Given the description of an element on the screen output the (x, y) to click on. 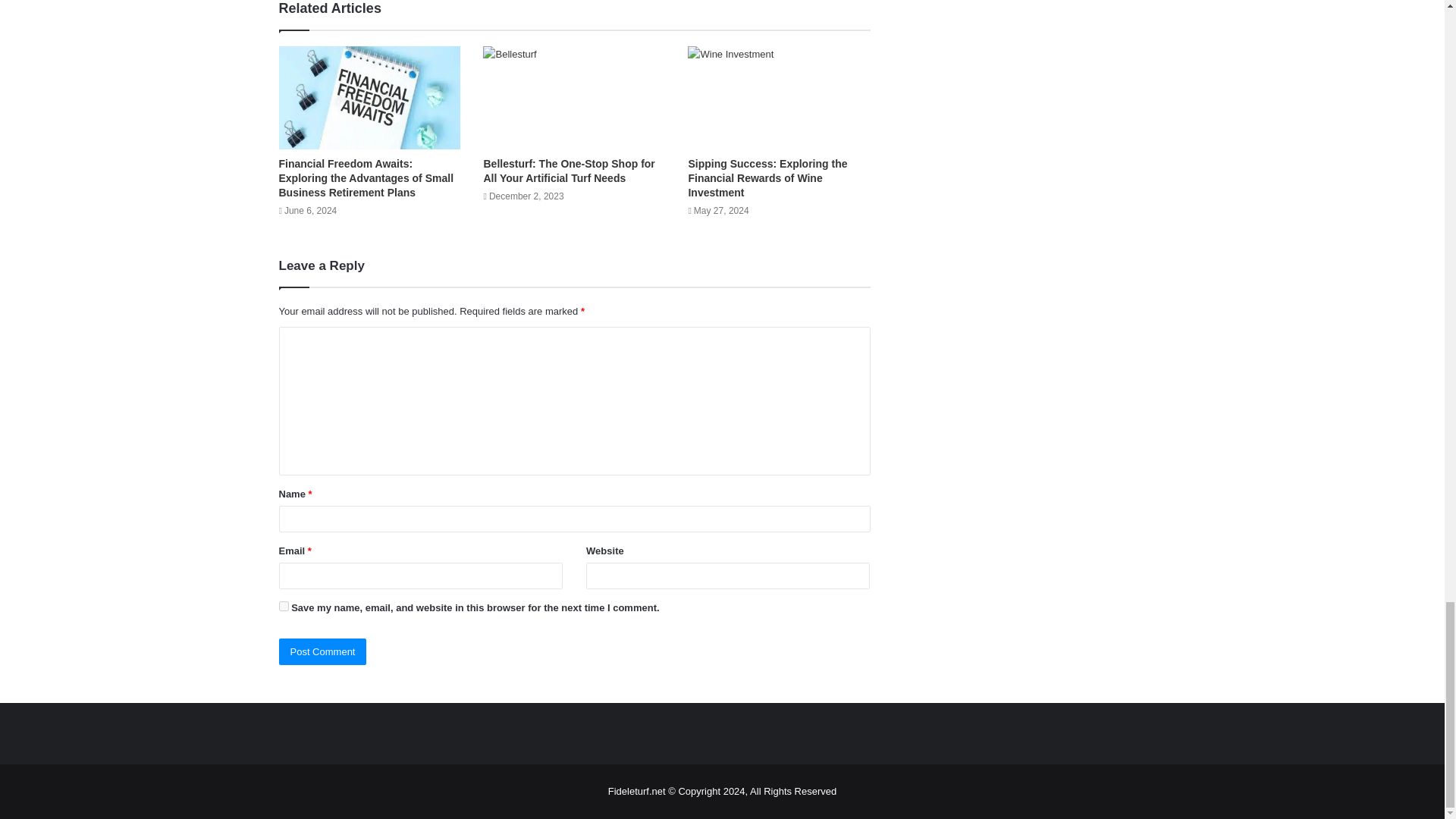
Post Comment (322, 651)
yes (283, 605)
Post Comment (322, 651)
